Given the description of an element on the screen output the (x, y) to click on. 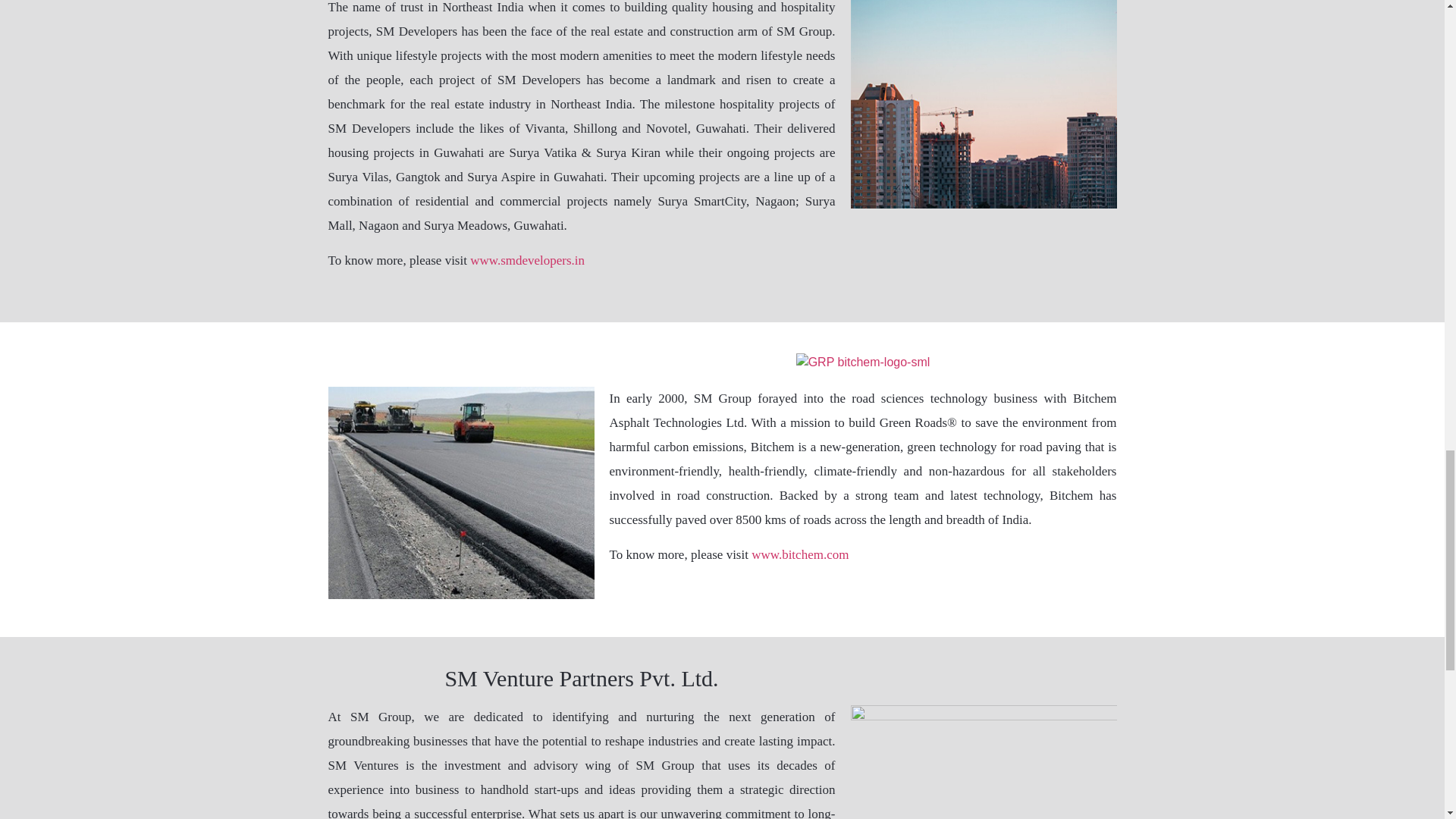
www.bitchem.com (799, 554)
www.smdevelopers.in (527, 260)
GRP bitchem-logo-sml (863, 361)
